Given the description of an element on the screen output the (x, y) to click on. 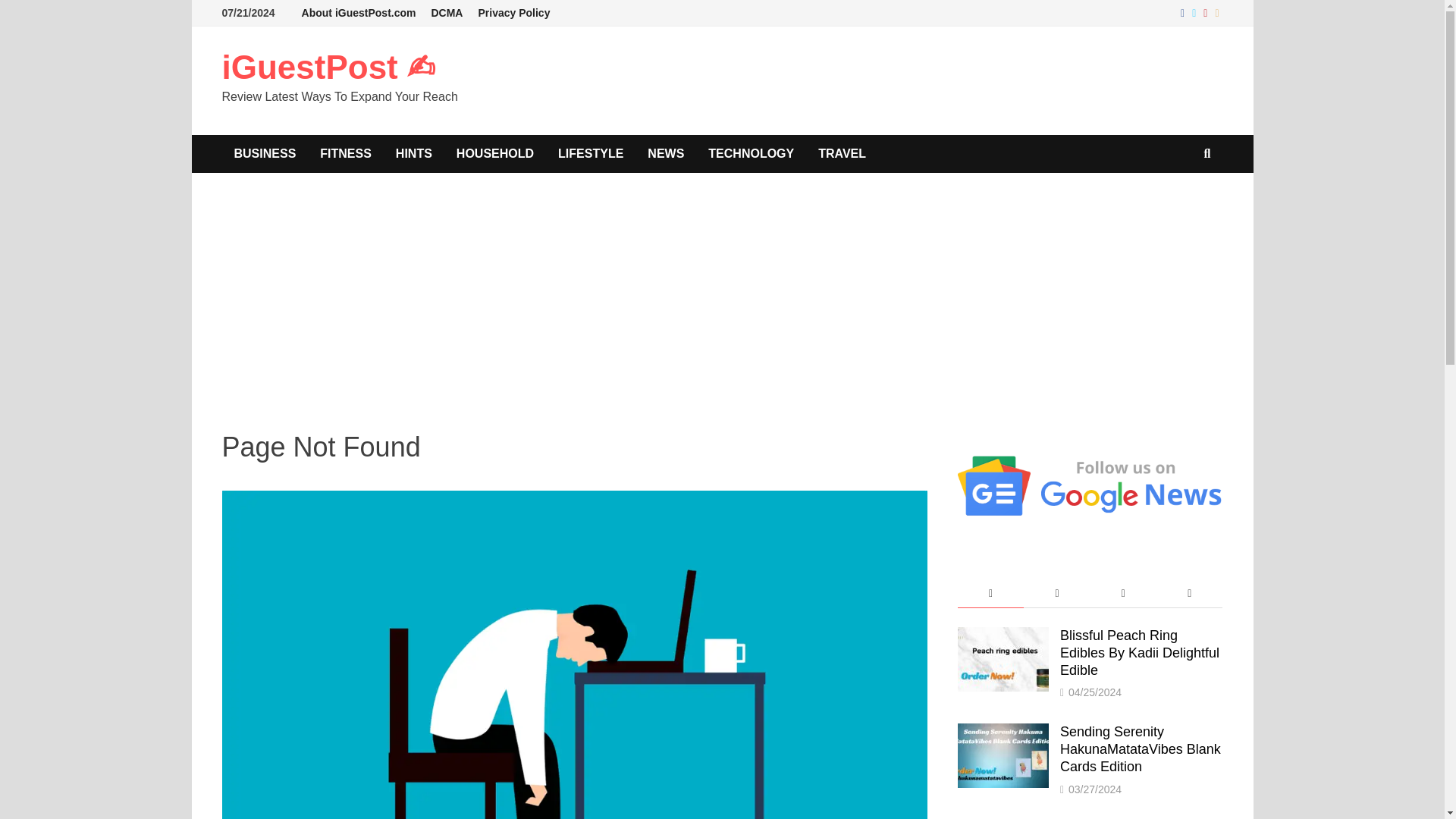
Sending Serenity HakunaMatataVibes Blank Cards Edition (1003, 733)
BUSINESS (264, 153)
About iGuestPost.com (358, 13)
TECHNOLOGY (750, 153)
TRAVEL (841, 153)
LIFESTYLE (590, 153)
Privacy Policy (513, 13)
HINTS (414, 153)
DCMA (446, 13)
HOUSEHOLD (495, 153)
FITNESS (345, 153)
NEWS (664, 153)
